Given the description of an element on the screen output the (x, y) to click on. 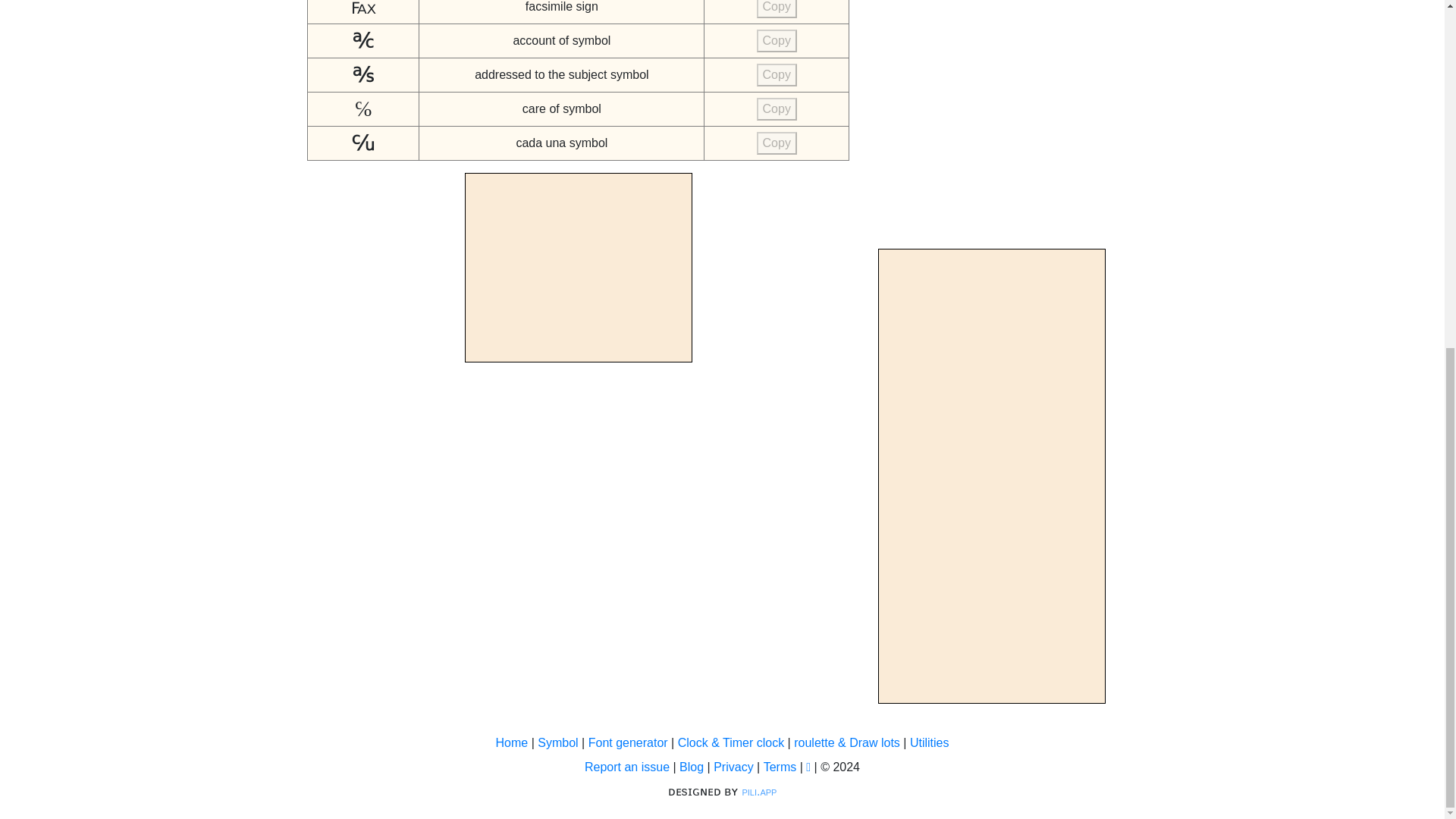
Copy (776, 108)
Copy (776, 9)
Copy (776, 142)
Symbol (557, 742)
Home (512, 742)
Utilities (929, 742)
Font generator (628, 742)
Terms (779, 767)
Blog (691, 767)
Copy (776, 40)
Privacy (732, 767)
Report an issue (627, 767)
pili.app (758, 791)
Copy (776, 74)
